Given the description of an element on the screen output the (x, y) to click on. 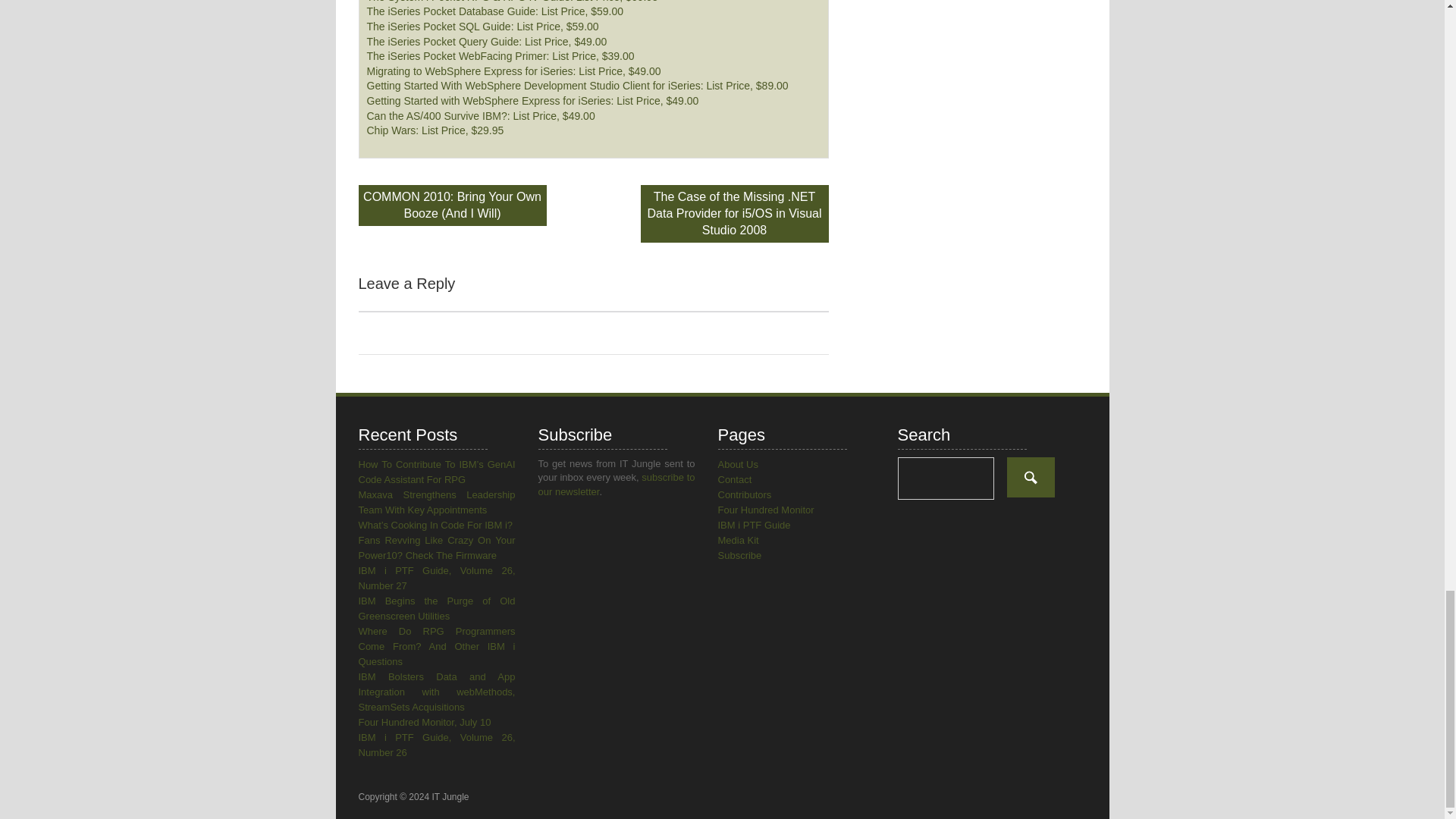
Search (1030, 477)
